Given the description of an element on the screen output the (x, y) to click on. 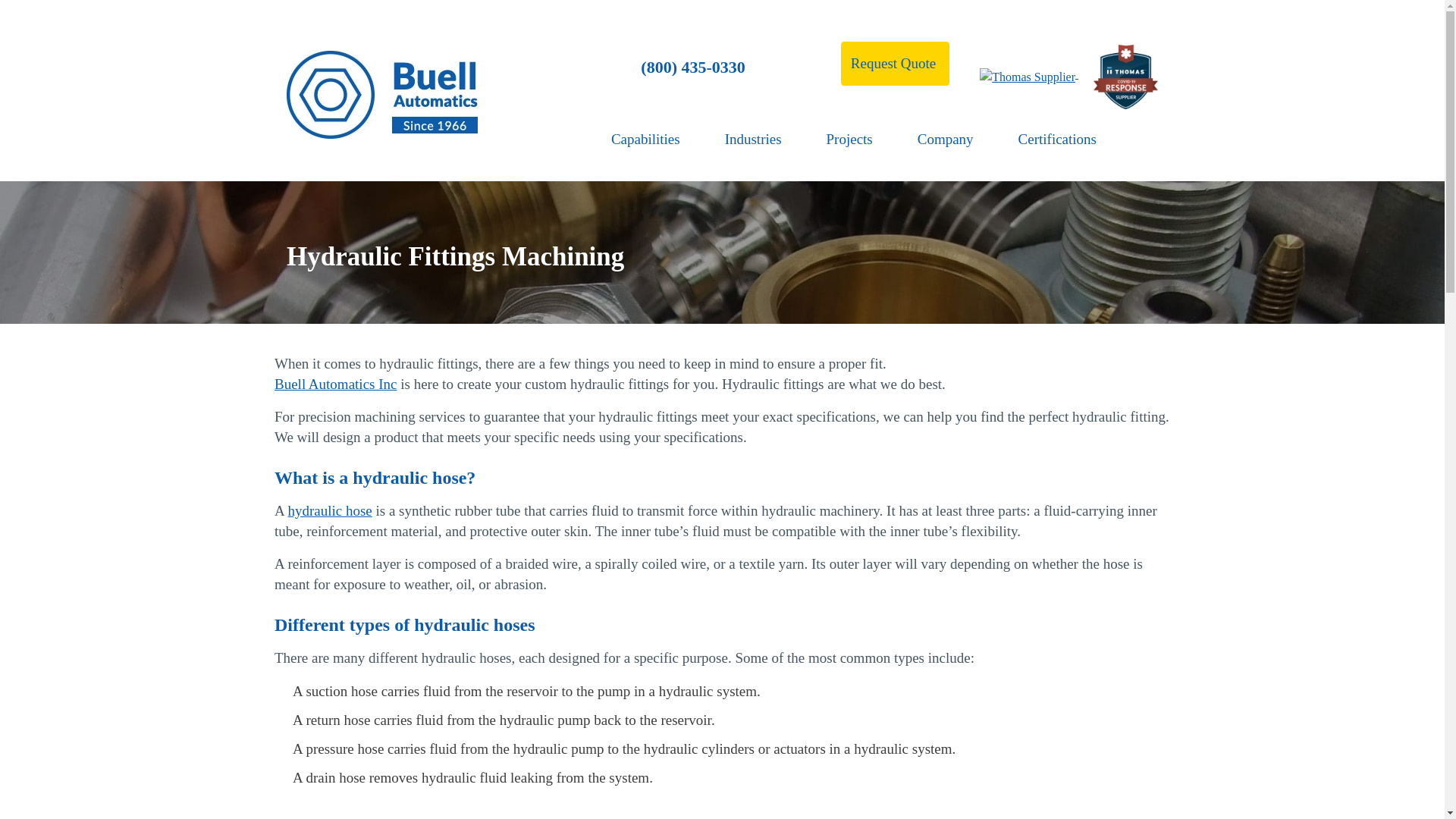
Industries (760, 139)
Capabilities (652, 139)
Thomas Supplier (1027, 76)
Request Quote (895, 63)
Thomas Supplier (1125, 76)
Projects (856, 139)
